Given the description of an element on the screen output the (x, y) to click on. 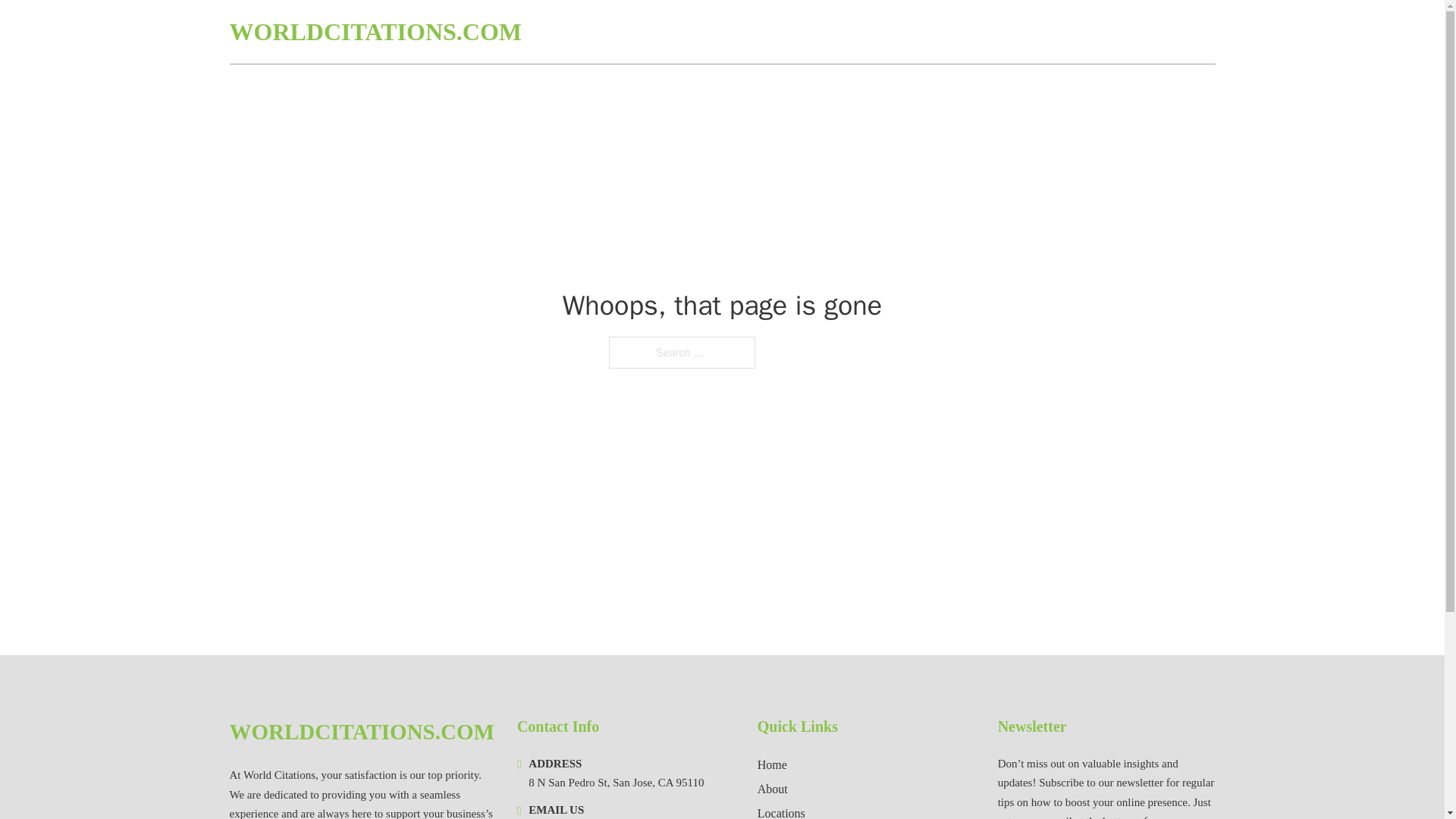
LOCATIONS (1105, 31)
WORLDCITATIONS.COM (374, 31)
Home (772, 764)
HOME (1032, 31)
WORLDCITATIONS.COM (360, 732)
About (772, 788)
Locations (781, 811)
